Given the description of an element on the screen output the (x, y) to click on. 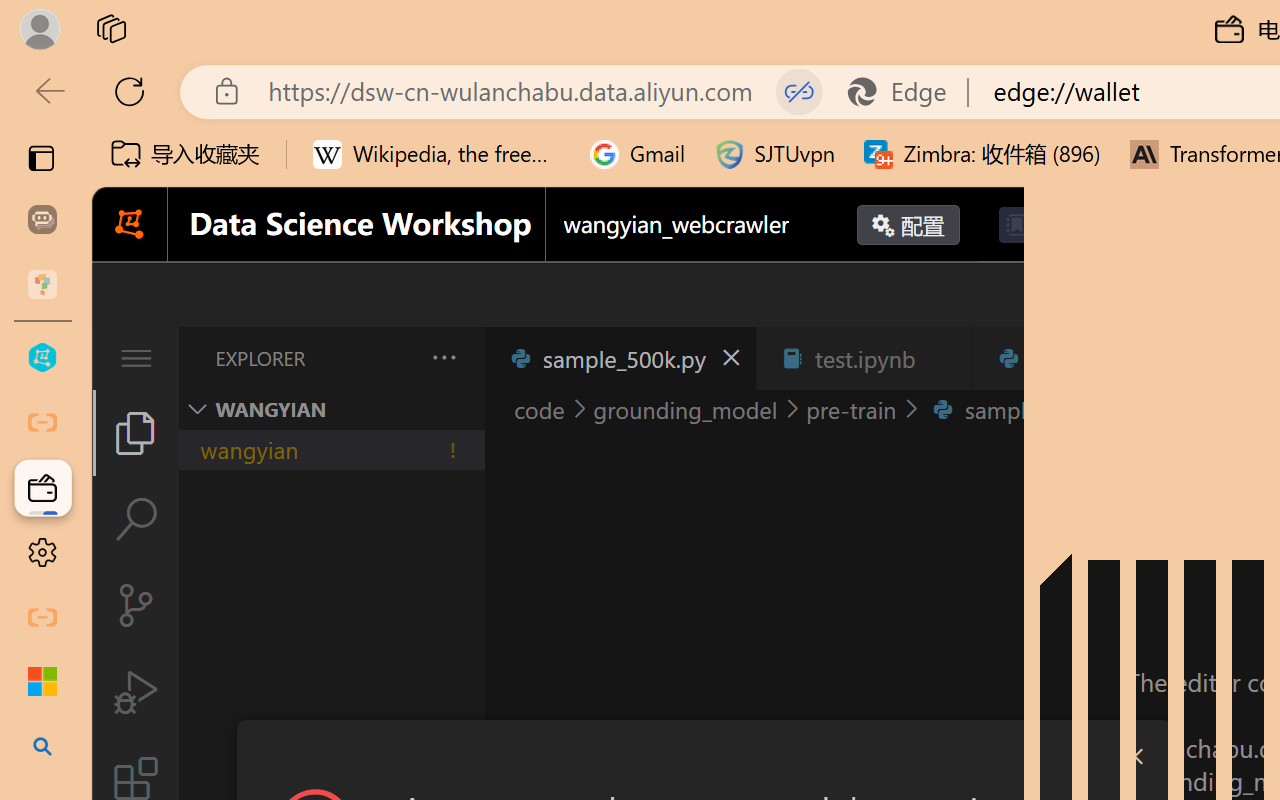
Run and Debug (Ctrl+Shift+D) (135, 692)
